Given the description of an element on the screen output the (x, y) to click on. 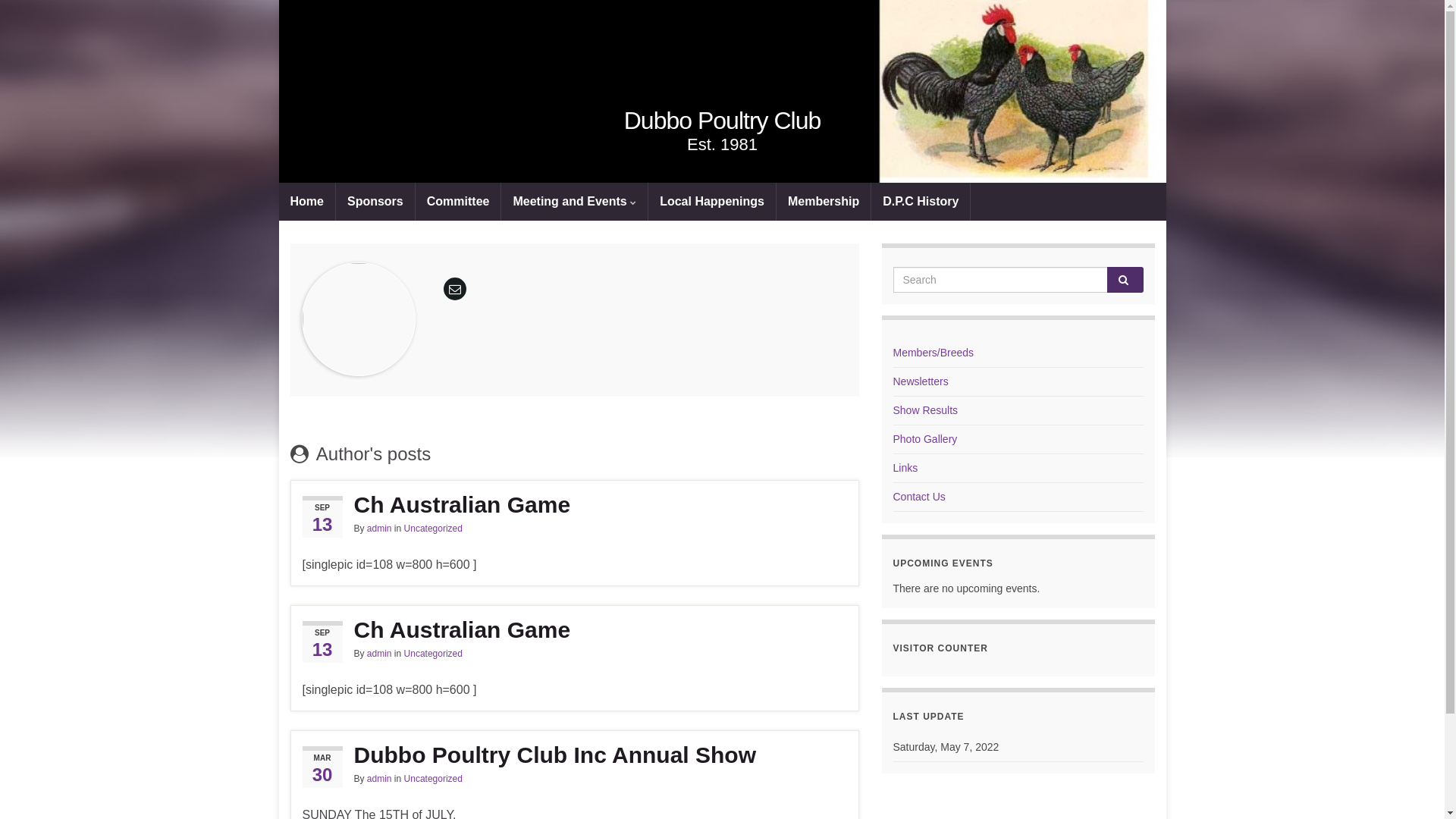
Home Element type: text (307, 201)
Dubbo Poultry Club Element type: text (722, 120)
Links Element type: text (905, 467)
Sponsors Element type: text (374, 201)
admin Element type: text (379, 653)
Meeting and Events Element type: text (574, 201)
Local Happenings Element type: text (711, 201)
Uncategorized Element type: text (433, 528)
Photo Gallery Element type: text (925, 439)
D.P.C History Element type: text (920, 201)
Membership Element type: text (823, 201)
Ch Australian Game Element type: text (573, 630)
admin Element type: text (379, 528)
Ch Australian Game Element type: text (573, 504)
Dubbo Poultry Club Element type: hover (722, 91)
Members/Breeds Element type: text (933, 352)
Contact Us Element type: text (919, 496)
Committee Element type: text (458, 201)
Newsletters Element type: text (920, 381)
admin Element type: text (379, 778)
Uncategorized Element type: text (433, 778)
Show Results Element type: text (925, 410)
Uncategorized Element type: text (433, 653)
Dubbo Poultry Club Inc Annual Show Element type: text (573, 755)
